Given the description of an element on the screen output the (x, y) to click on. 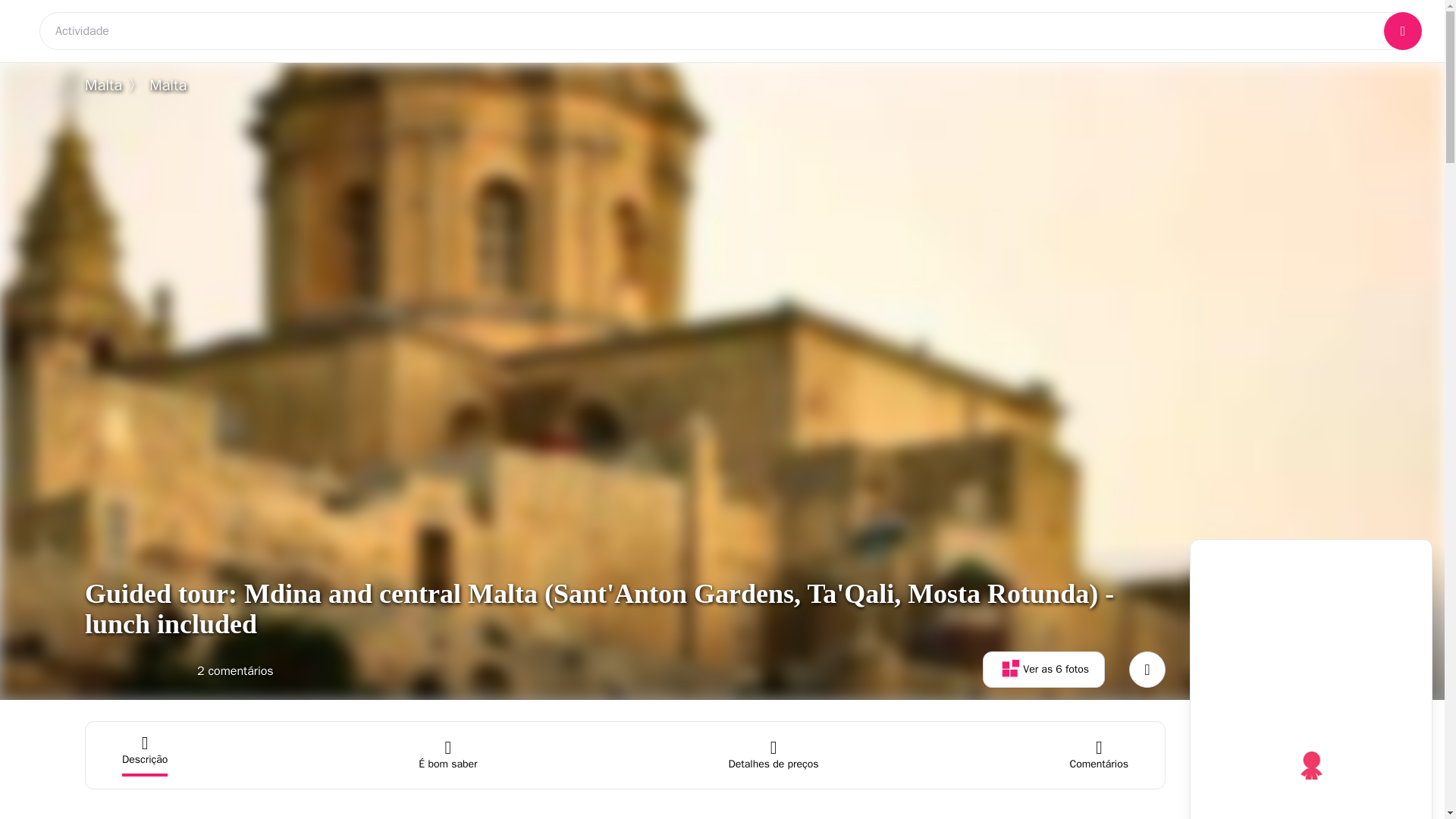
Ver as 6 fotos (1043, 669)
Malta (167, 85)
Malta (103, 85)
